Given the description of an element on the screen output the (x, y) to click on. 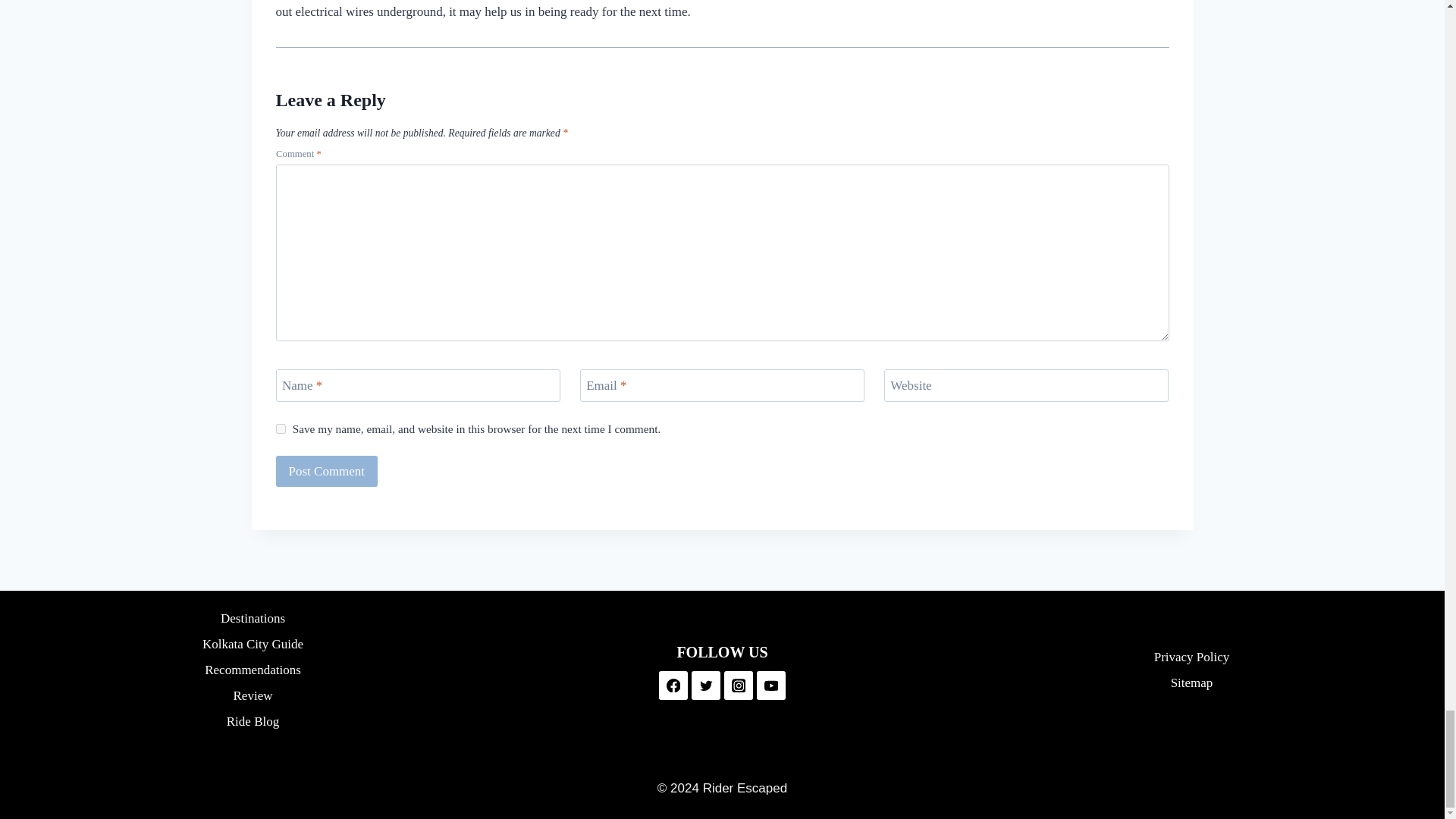
Post Comment (327, 470)
yes (280, 429)
